Given the description of an element on the screen output the (x, y) to click on. 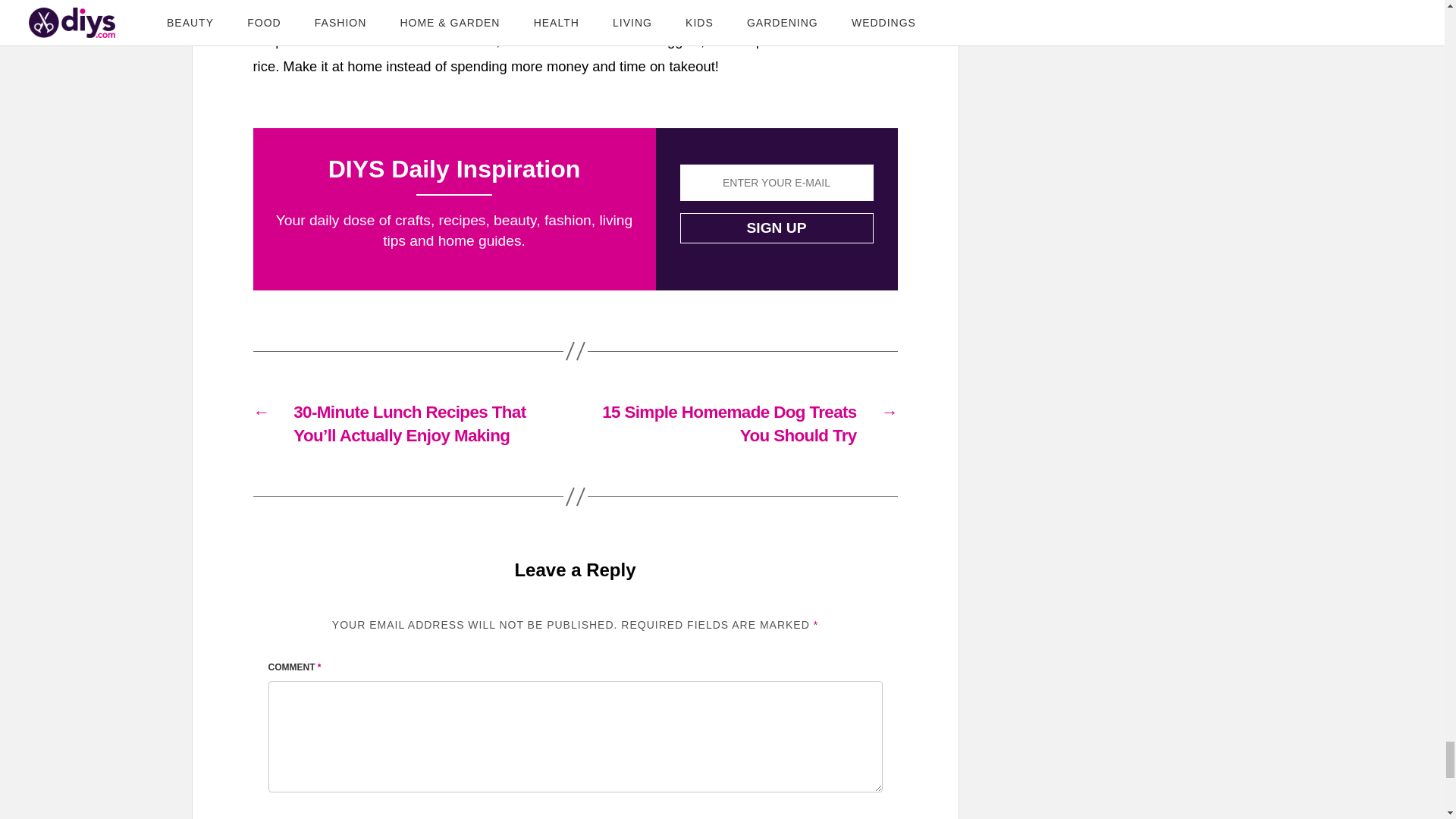
SIGN UP (775, 227)
Healthy Nibbles and Bits (512, 14)
